Given the description of an element on the screen output the (x, y) to click on. 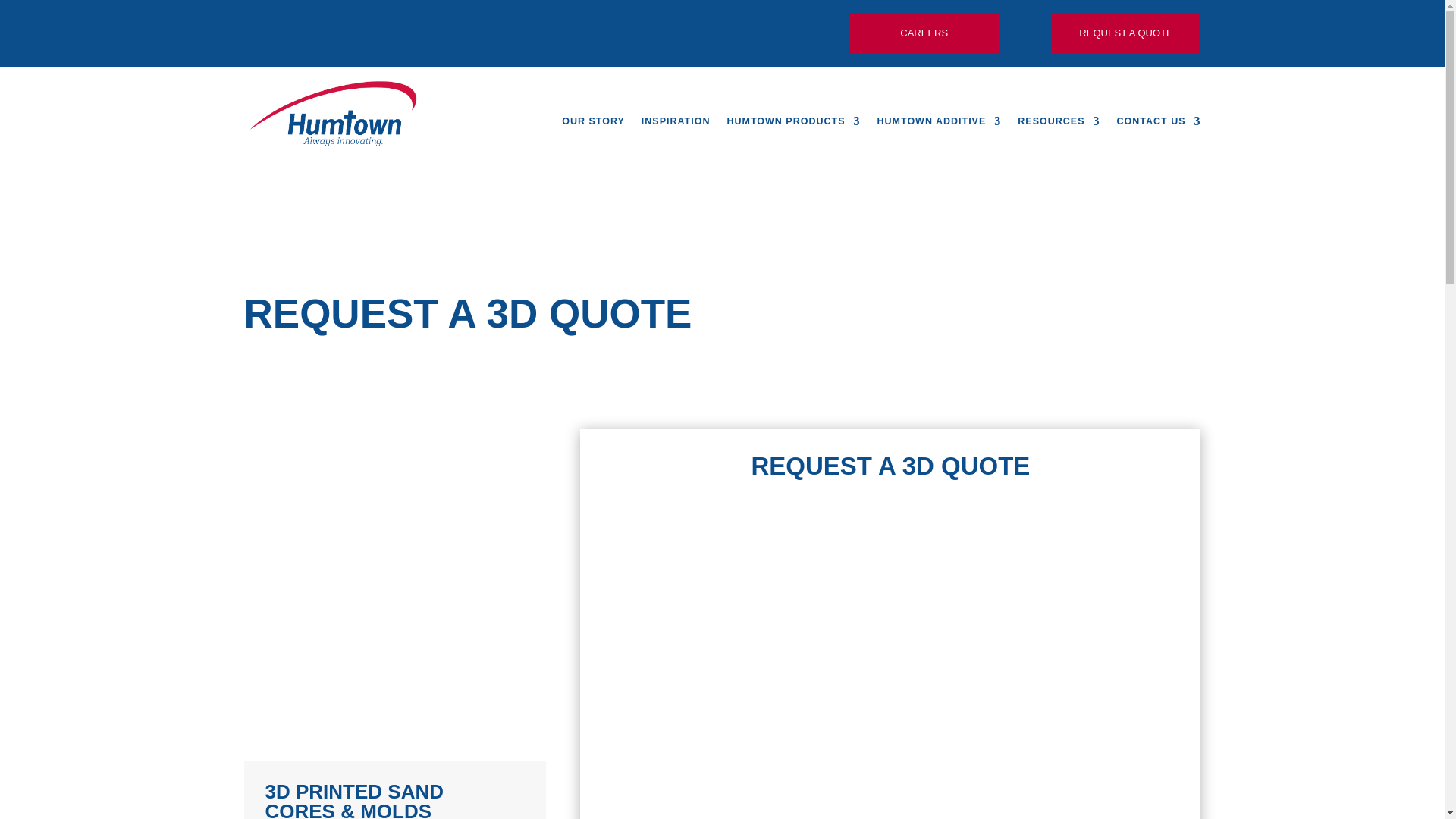
HUMTOWN PRODUCTS (793, 121)
HUMTOWN ADDITIVE (939, 121)
CAREERS (924, 33)
REQUEST A QUOTE (1126, 33)
